Given the description of an element on the screen output the (x, y) to click on. 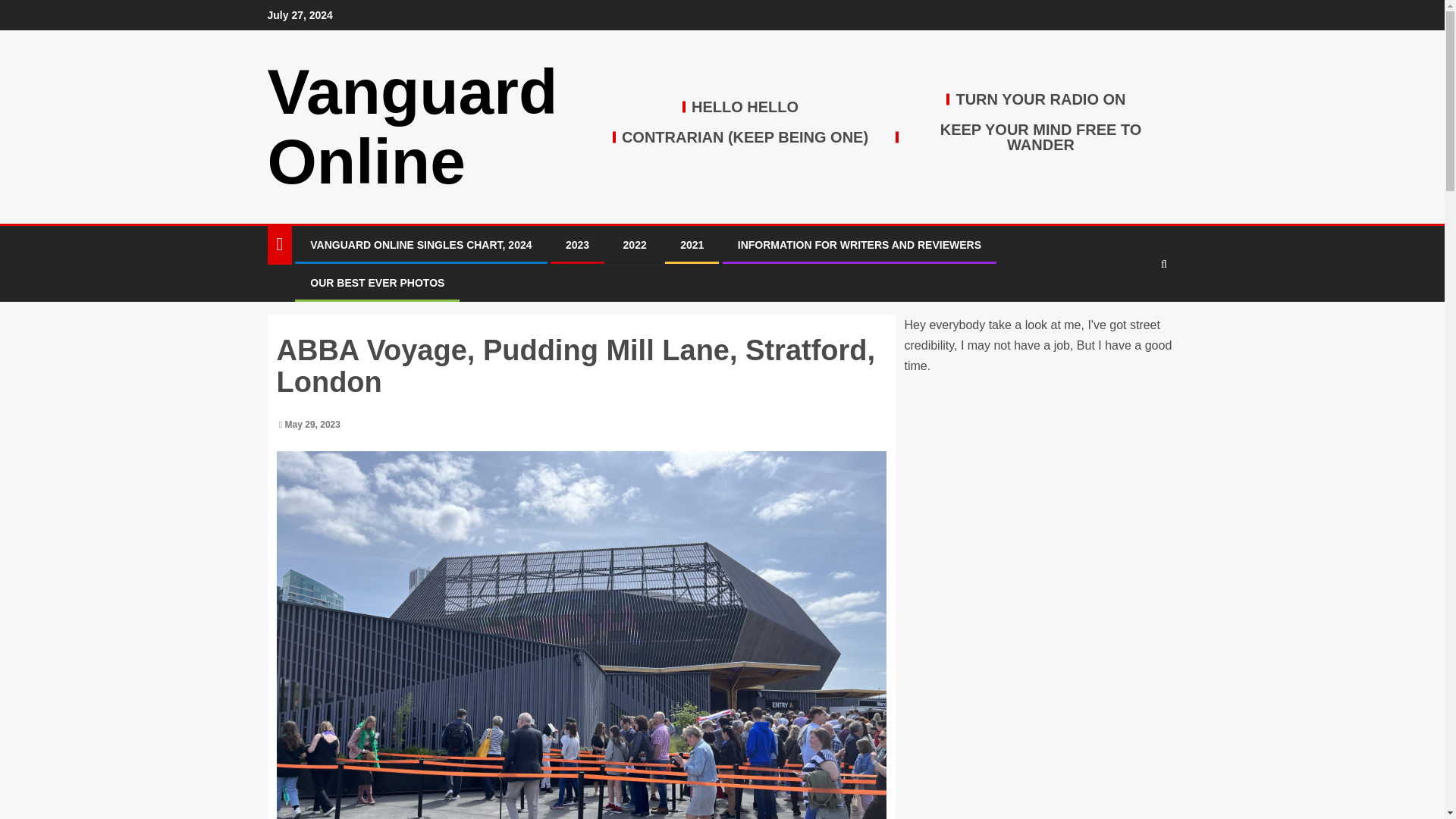
INFORMATION FOR WRITERS AND REVIEWERS (859, 244)
VANGUARD ONLINE SINGLES CHART, 2024 (420, 244)
2023 (577, 244)
2022 (634, 244)
OUR BEST EVER PHOTOS (377, 282)
Vanguard Online (411, 126)
2021 (691, 244)
Search (1133, 308)
